Given the description of an element on the screen output the (x, y) to click on. 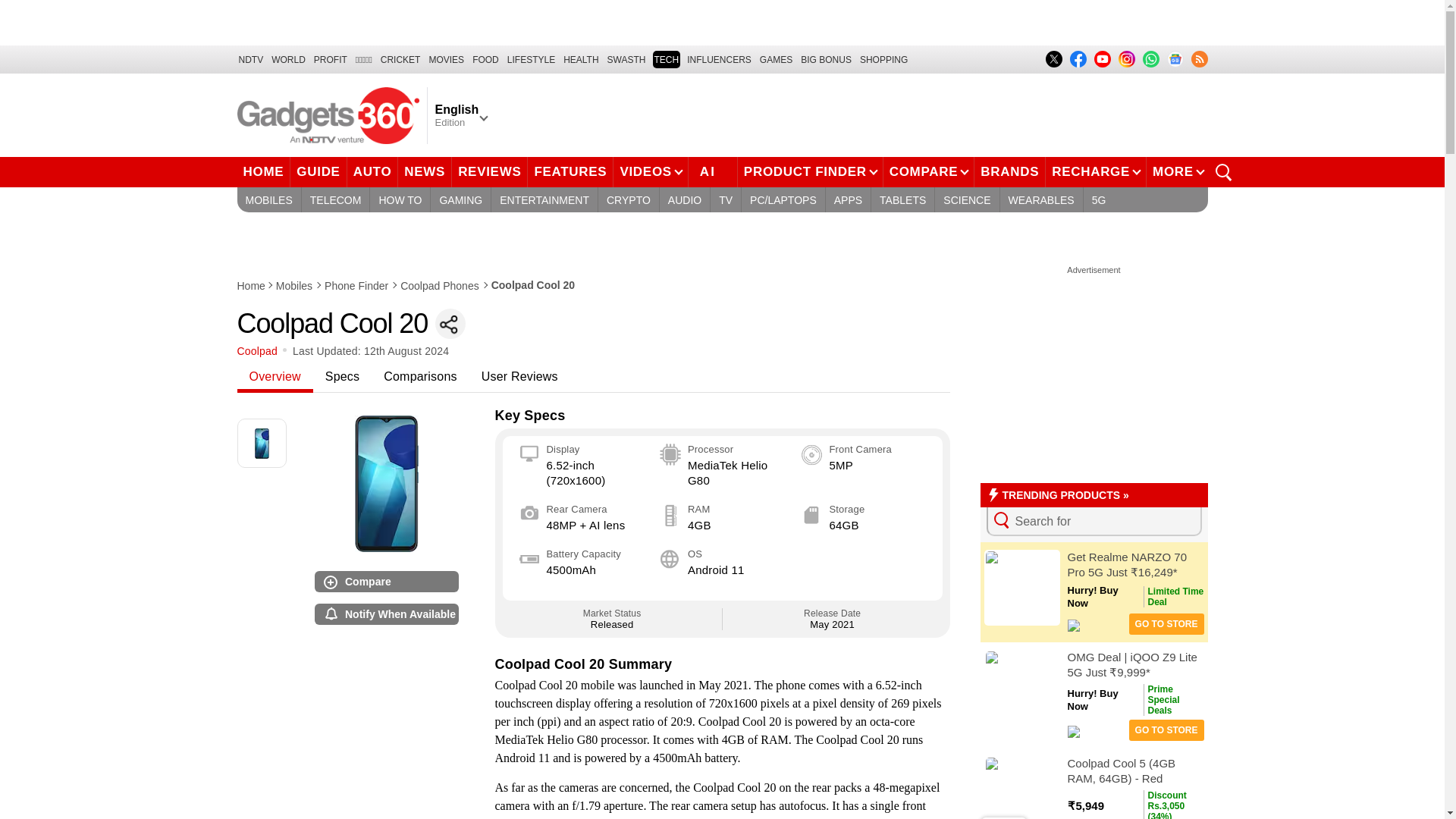
HEALTH (580, 58)
GAMES (775, 58)
Home (250, 285)
VIDEOS (649, 172)
CRICKET (400, 58)
Games (775, 58)
HEALTH (580, 58)
HOME (262, 172)
NDTV (249, 58)
FEATURES (569, 172)
